Given the description of an element on the screen output the (x, y) to click on. 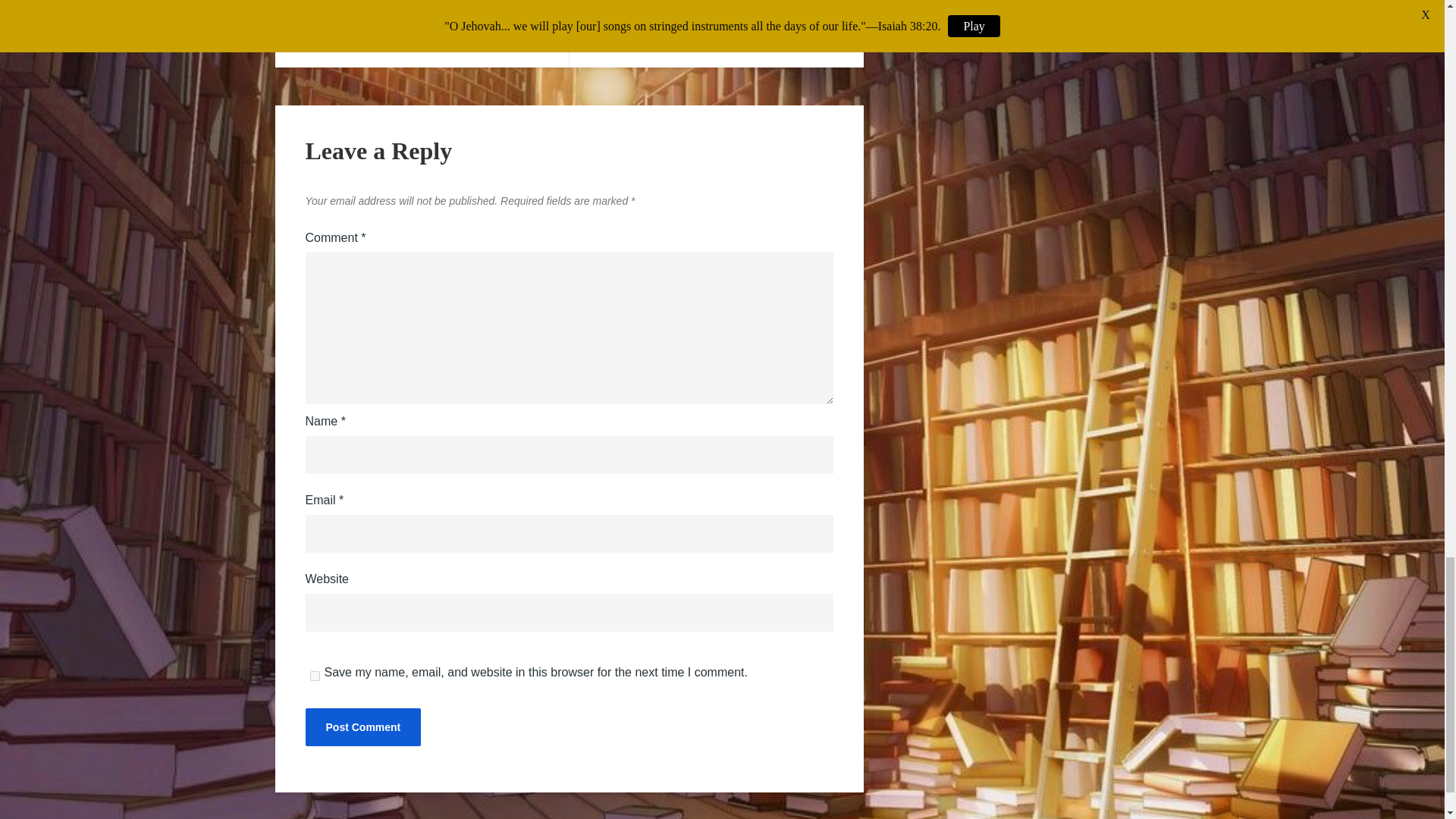
Post Comment (362, 727)
Lesson 23. Classes in Python (716, 33)
yes (313, 675)
Post Comment (362, 727)
